Given the description of an element on the screen output the (x, y) to click on. 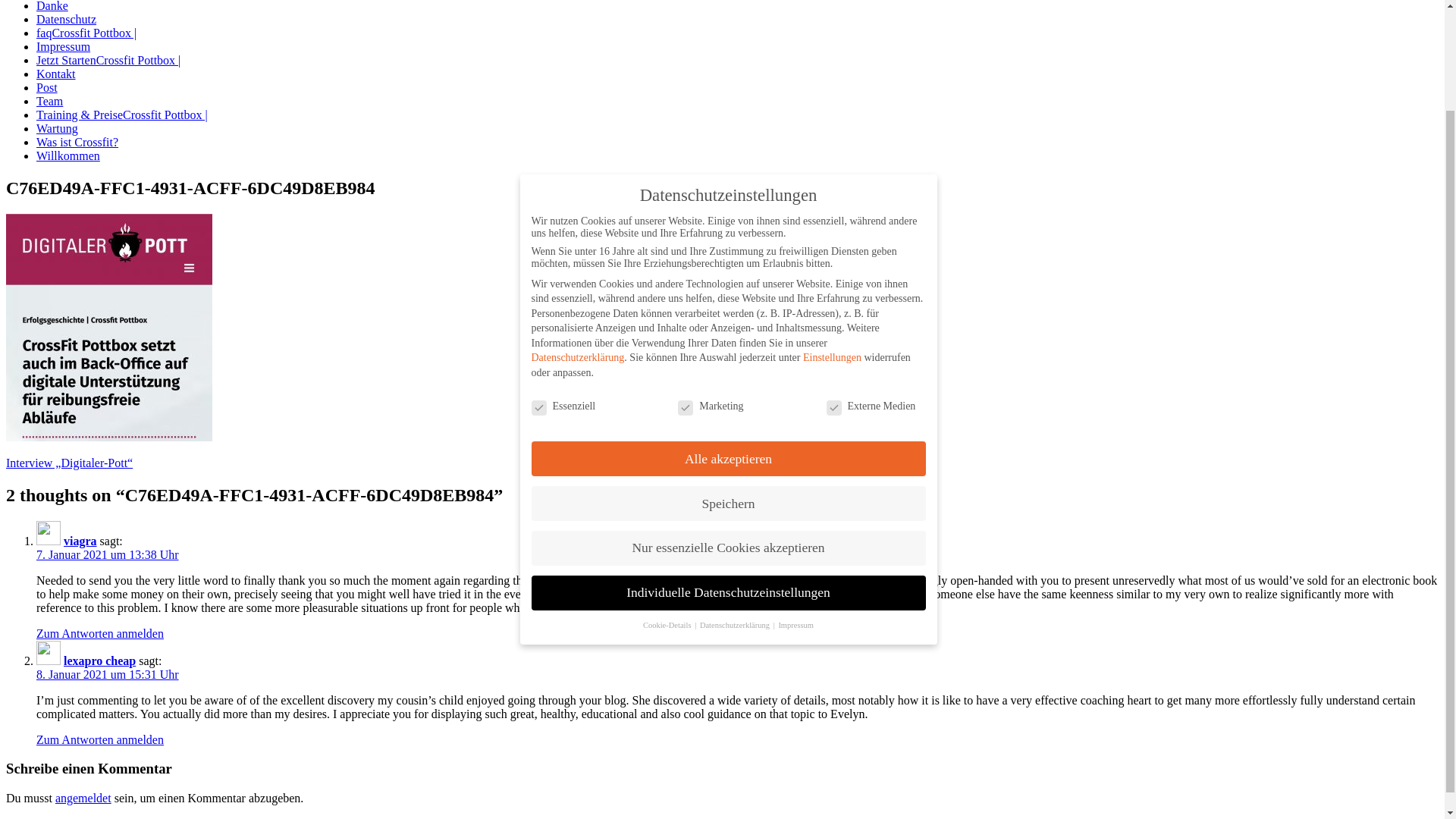
Datenschutz (66, 19)
Individuelle Datenschutzeinstellungen (727, 475)
Willkommen (68, 155)
Zum Antworten anmelden (99, 633)
Wartung (57, 128)
Post (47, 87)
Alle akzeptieren (727, 345)
Kontakt (55, 73)
Einstellungen (832, 245)
8. Januar 2021 um 15:31 Uhr (107, 674)
